Given the description of an element on the screen output the (x, y) to click on. 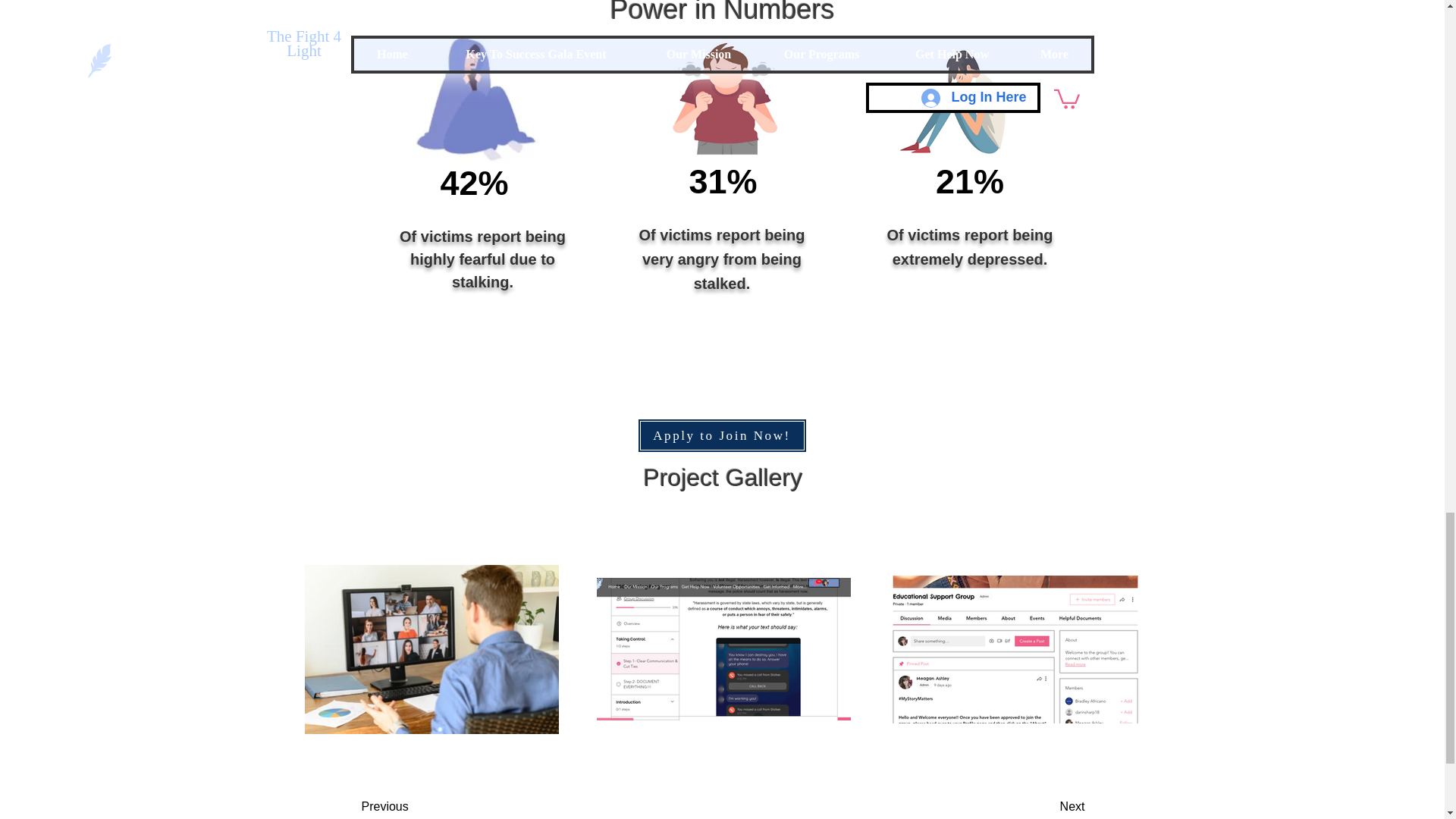
Apply to Join Now! (721, 435)
angry.png (723, 99)
Next (1033, 805)
depressed.png (956, 99)
Previous (422, 805)
